Given the description of an element on the screen output the (x, y) to click on. 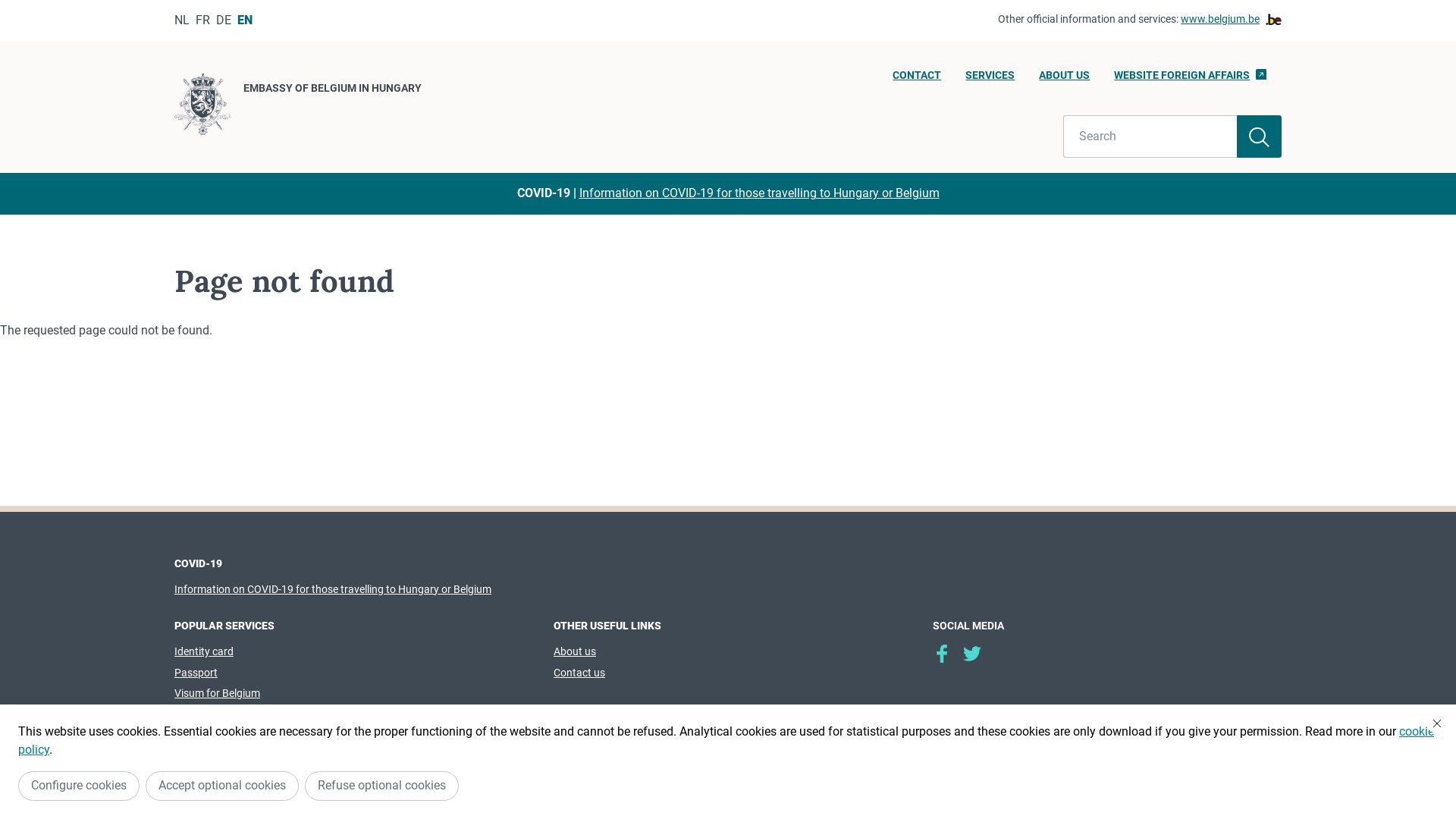
Accept optional cookies Element type: text (221, 785)
DE Element type: text (223, 19)
Configure cookies Element type: text (78, 785)
www.belgium.be Element type: text (1230, 19)
Embassy of Belgium in Budapest Element type: text (972, 653)
Accessibility statement Element type: text (887, 772)
Legal notice Element type: text (683, 772)
Protection of personal data Element type: text (566, 772)
Cookie Policy Element type: text (767, 772)
cookie policy Element type: text (726, 740)
EN Element type: text (244, 19)
Contact us Element type: text (579, 672)
NL Element type: text (181, 19)
Identity card Element type: text (203, 651)
CONTACT Element type: text (916, 79)
Embassy of Belgium in Budapest Element type: text (941, 653)
Close Element type: hover (1436, 723)
Visum for Belgium Element type: text (217, 693)
SERVICES Element type: text (989, 79)
Skip to main content Element type: text (7, 4)
FR Element type: text (202, 19)
About us Element type: text (574, 651)
Search Element type: hover (1149, 136)
WEBSITE FOREIGN AFFAIRS Element type: text (1189, 79)
Apply filter Element type: text (1258, 136)
EMBASSY OF BELGIUM IN HUNGARY Element type: text (297, 106)
Refuse optional cookies Element type: text (381, 785)
Passport Element type: text (195, 672)
ABOUT US Element type: text (1063, 79)
